Given the description of an element on the screen output the (x, y) to click on. 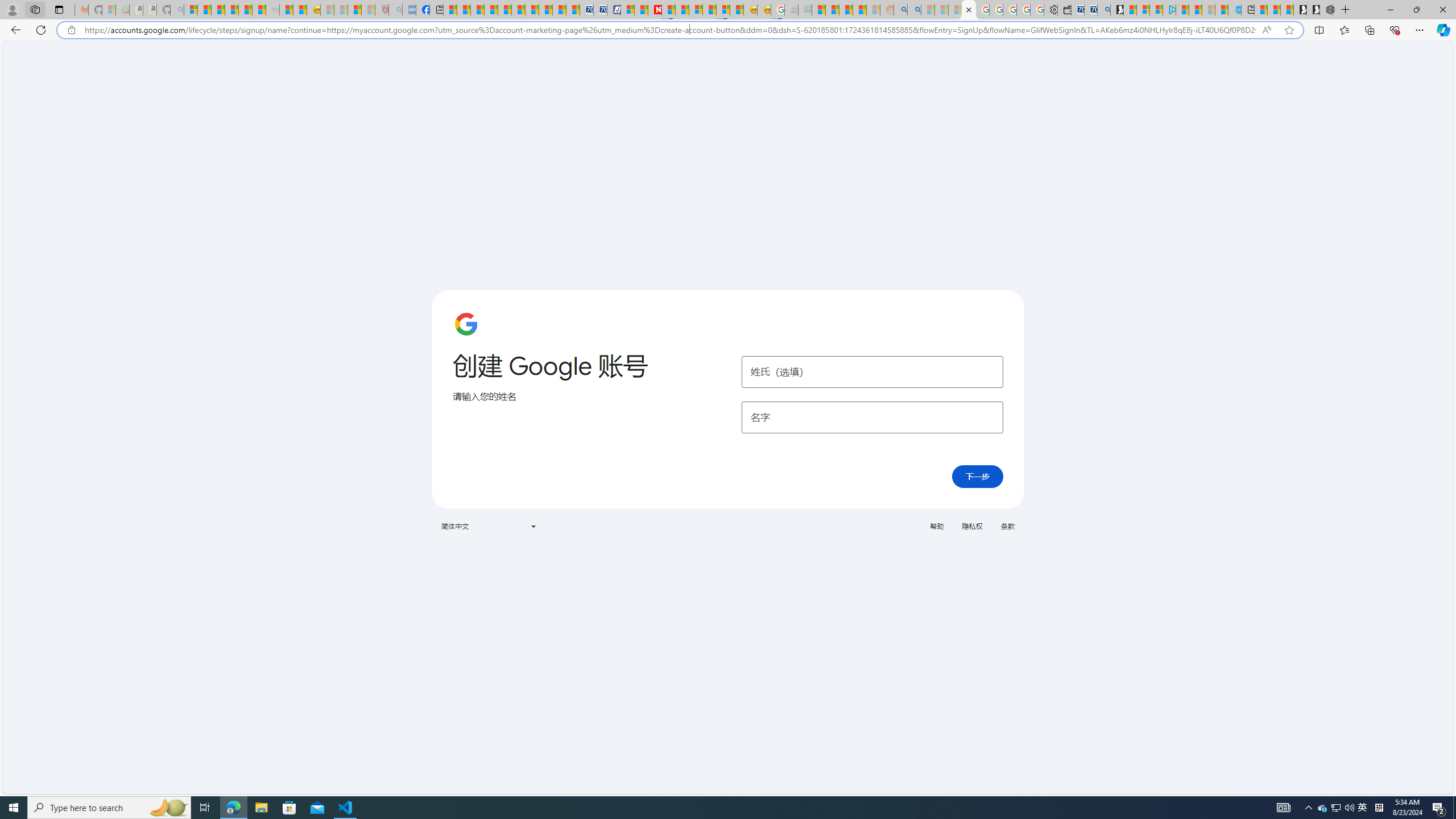
14 Common Myths Debunked By Scientific Facts (682, 9)
Home | Sky Blue Bikes - Sky Blue Bikes (1234, 9)
Combat Siege - Sleeping (271, 9)
